Given the description of an element on the screen output the (x, y) to click on. 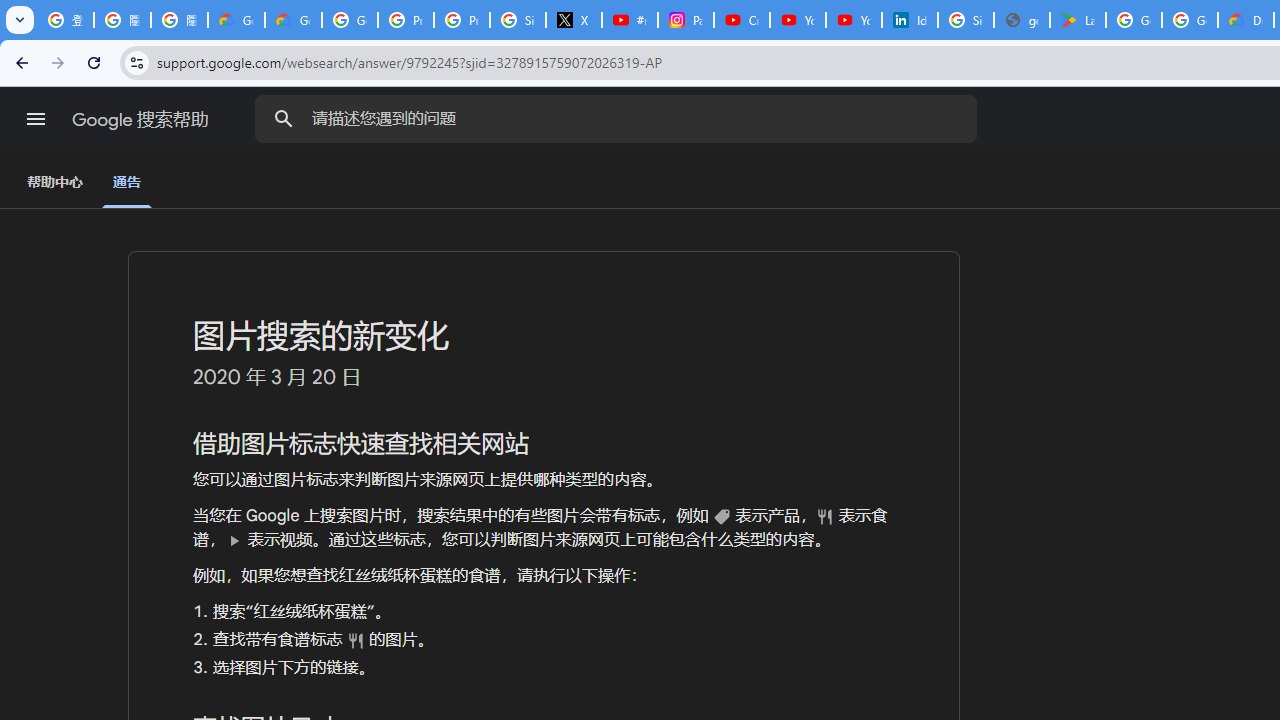
google_privacy_policy_en.pdf (1021, 20)
Sign in - Google Accounts (518, 20)
#nbabasketballhighlights - YouTube (629, 20)
Google Cloud Privacy Notice (293, 20)
Google Cloud Privacy Notice (235, 20)
